Given the description of an element on the screen output the (x, y) to click on. 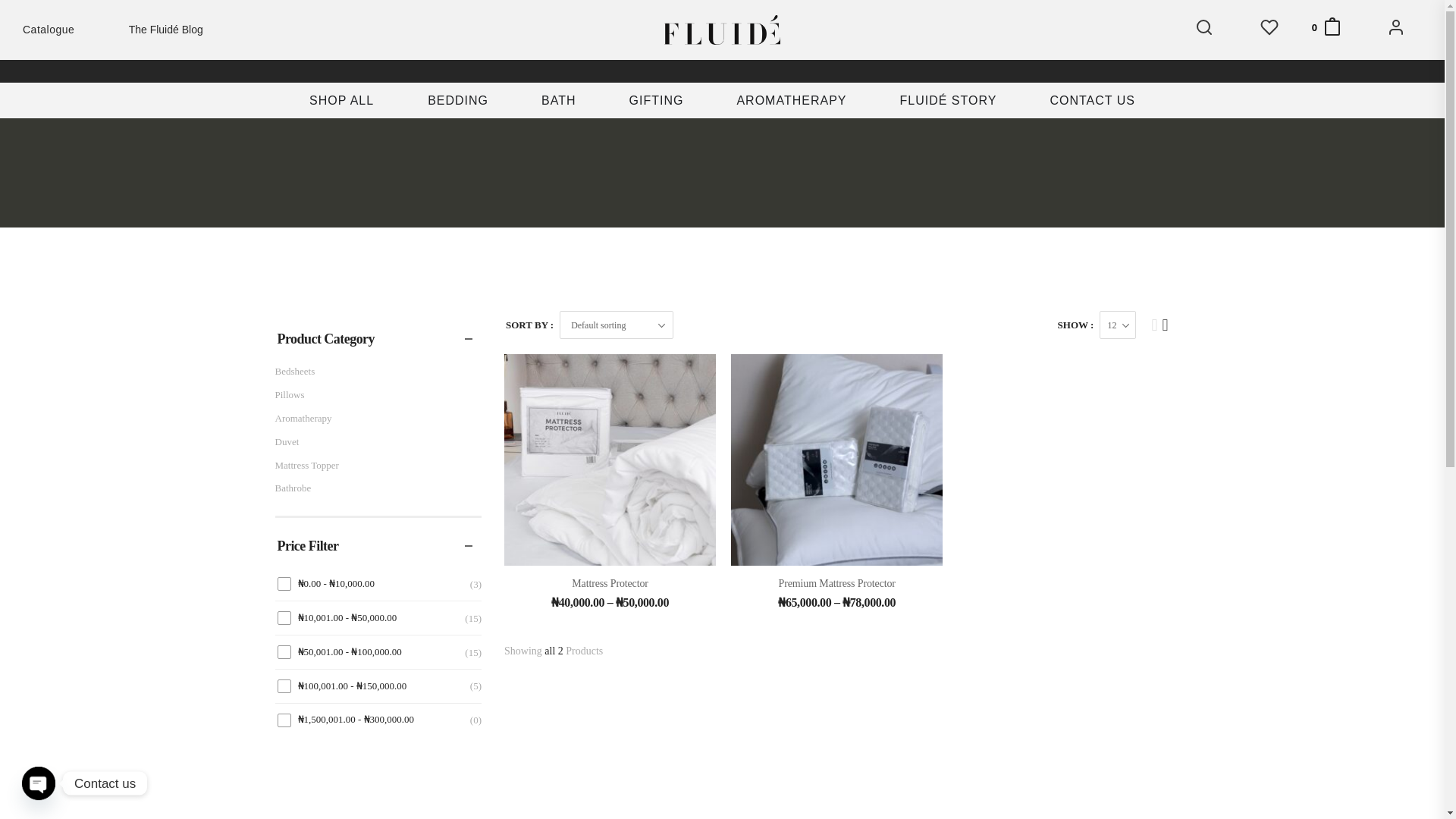
SHOP ALL (341, 56)
GIFTING (656, 67)
BEDDING (456, 61)
BATH (558, 66)
AROMATHERAPY (790, 72)
CONTACT US (1092, 80)
